Given the description of an element on the screen output the (x, y) to click on. 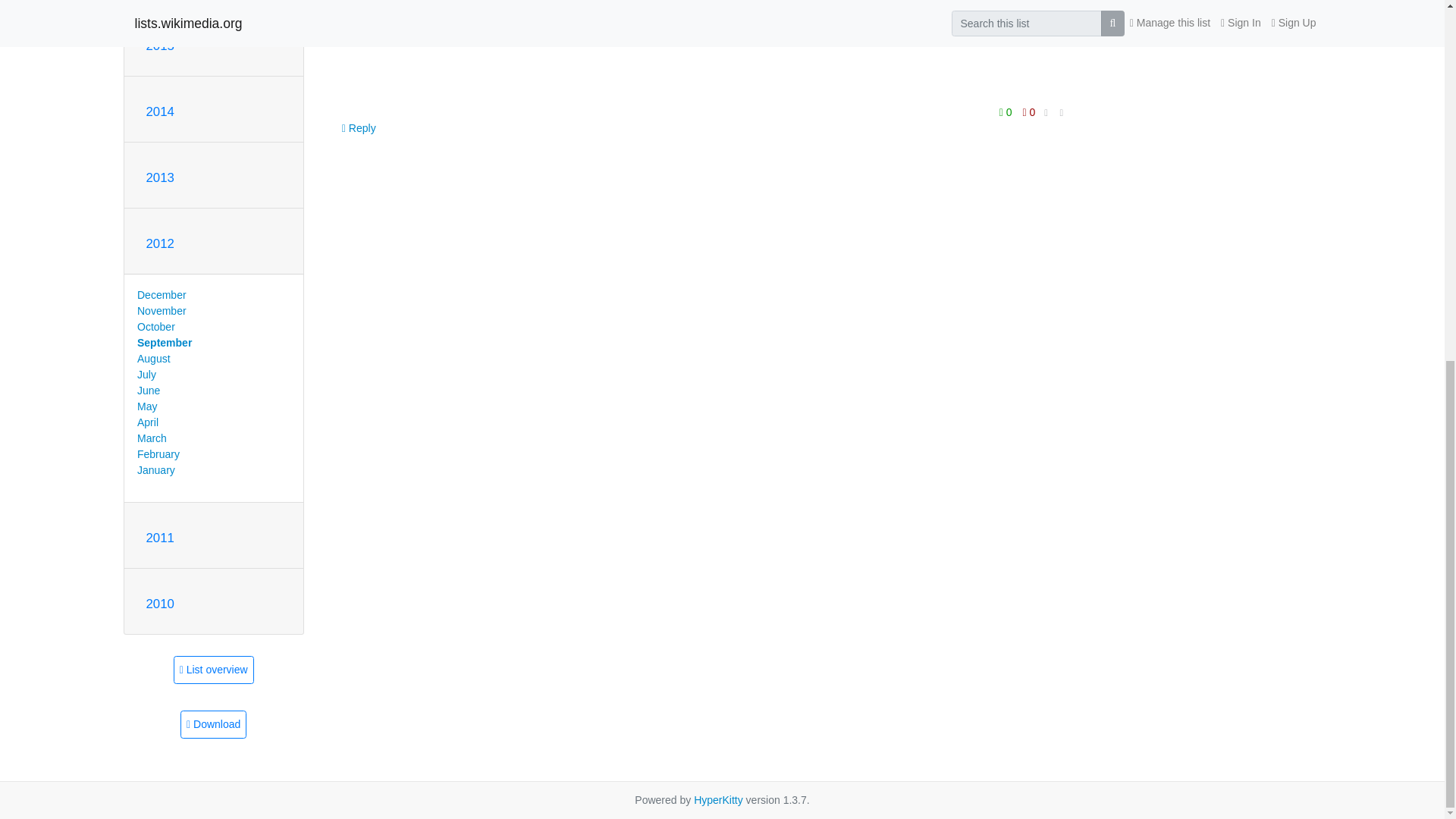
Sign in to reply online (359, 127)
This message in gzipped mbox format (213, 724)
You must be logged-in to vote. (1007, 112)
You must be logged-in to vote. (1029, 112)
